Given the description of an element on the screen output the (x, y) to click on. 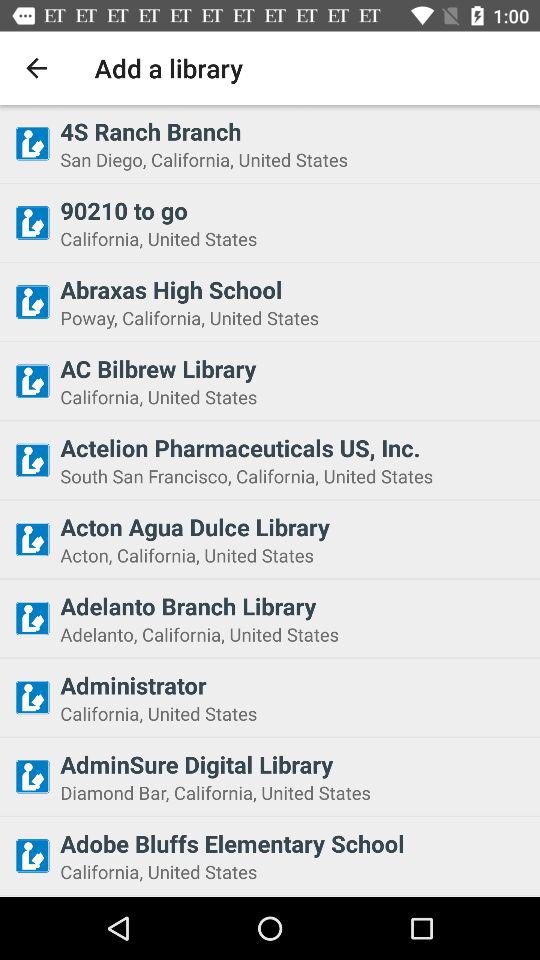
open the item below acton california united (294, 606)
